Given the description of an element on the screen output the (x, y) to click on. 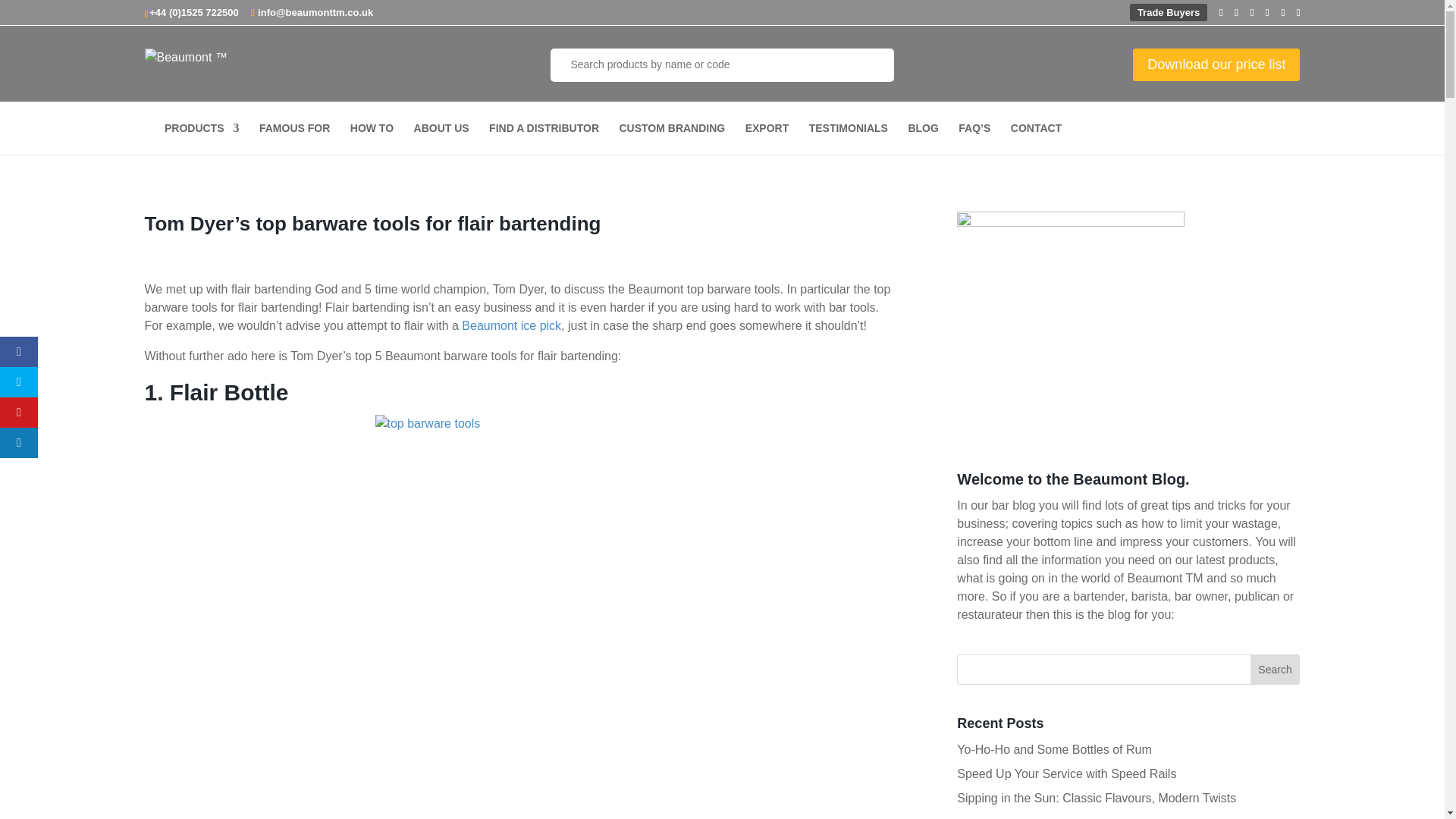
PRODUCTS (202, 138)
Search (1275, 669)
Download our price list (1216, 64)
Trade Buyers (1168, 12)
